Given the description of an element on the screen output the (x, y) to click on. 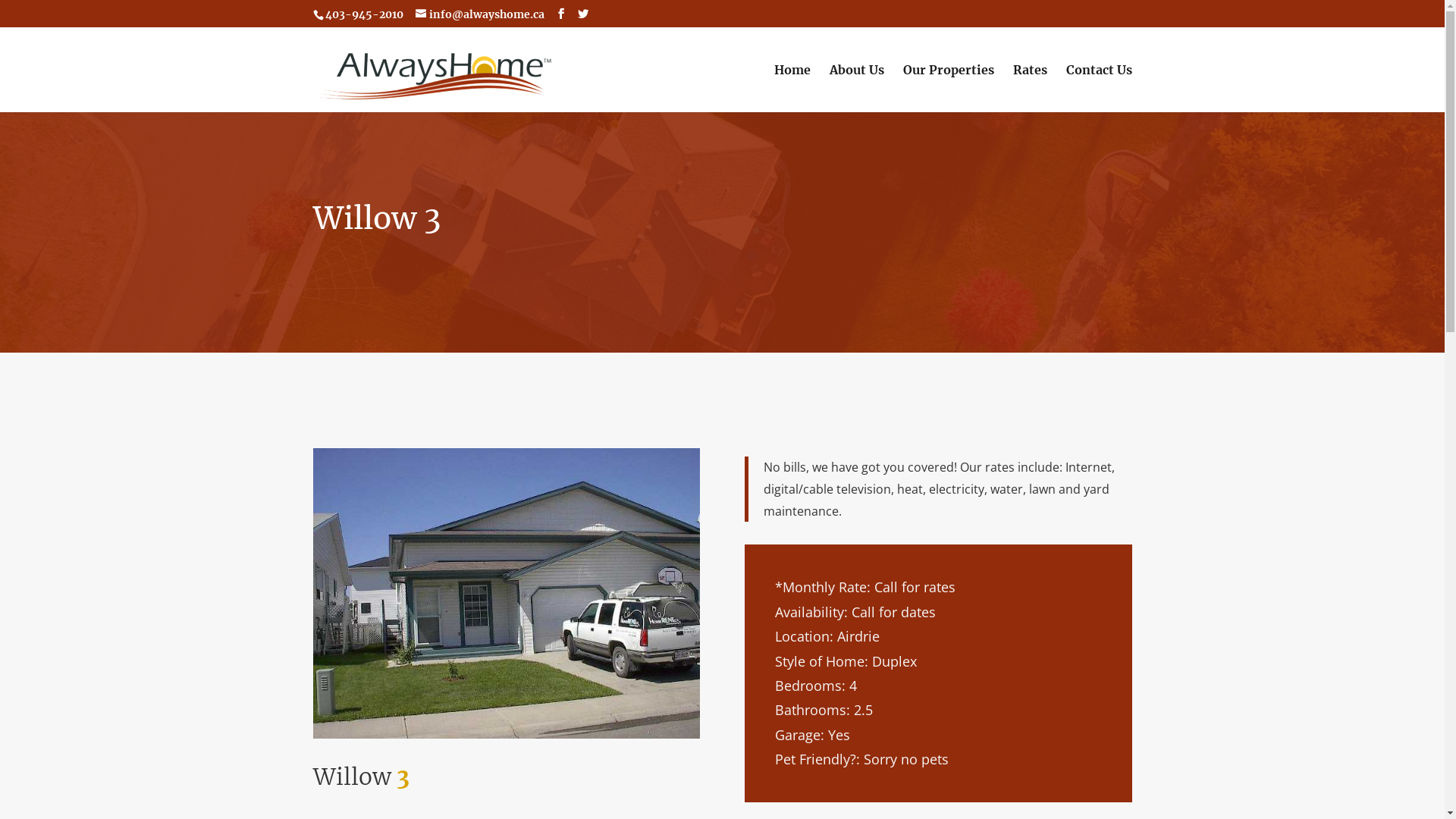
info@alwayshome.ca Element type: text (479, 14)
Rates Element type: text (1030, 88)
Home Element type: text (791, 88)
ext Element type: hover (506, 593)
About Us Element type: text (856, 88)
Our Properties Element type: text (947, 88)
403-945-2010 Element type: text (362, 14)
Contact Us Element type: text (1099, 88)
